Given the description of an element on the screen output the (x, y) to click on. 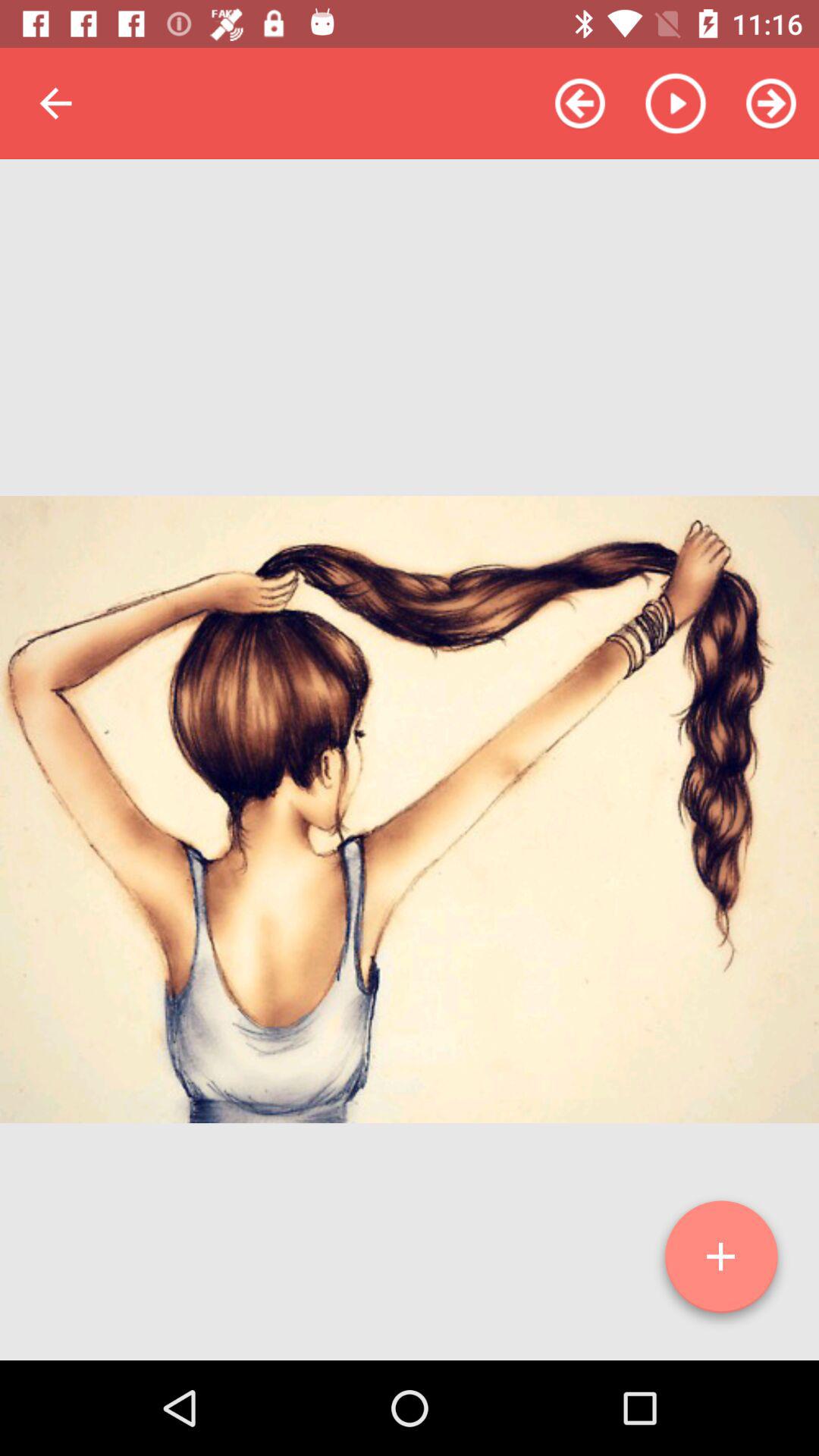
add new item (721, 1262)
